Given the description of an element on the screen output the (x, y) to click on. 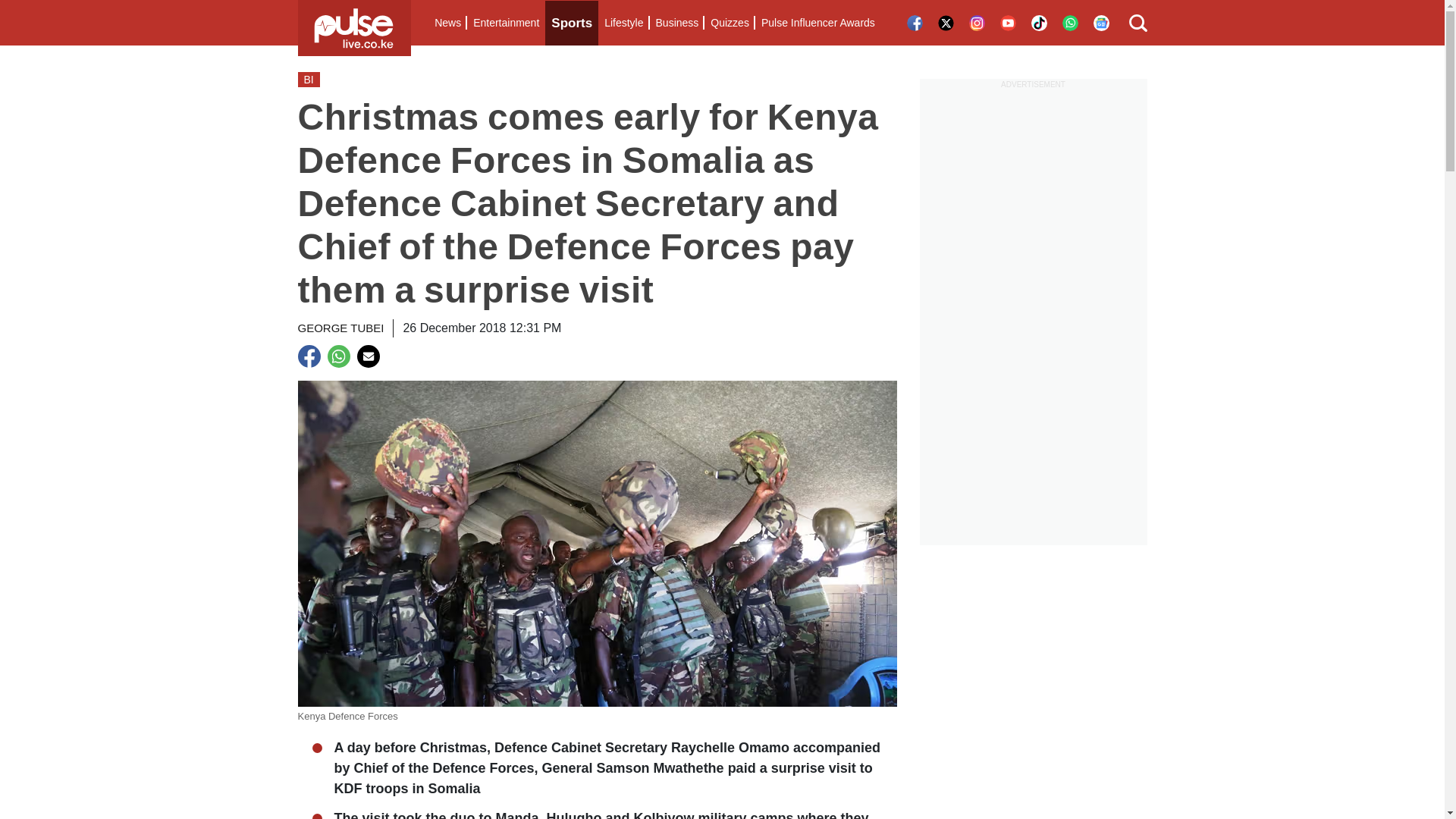
Pulse Influencer Awards (817, 22)
Business (676, 22)
Lifestyle (623, 22)
Sports (571, 22)
Quizzes (729, 22)
Entertainment (505, 22)
